Given the description of an element on the screen output the (x, y) to click on. 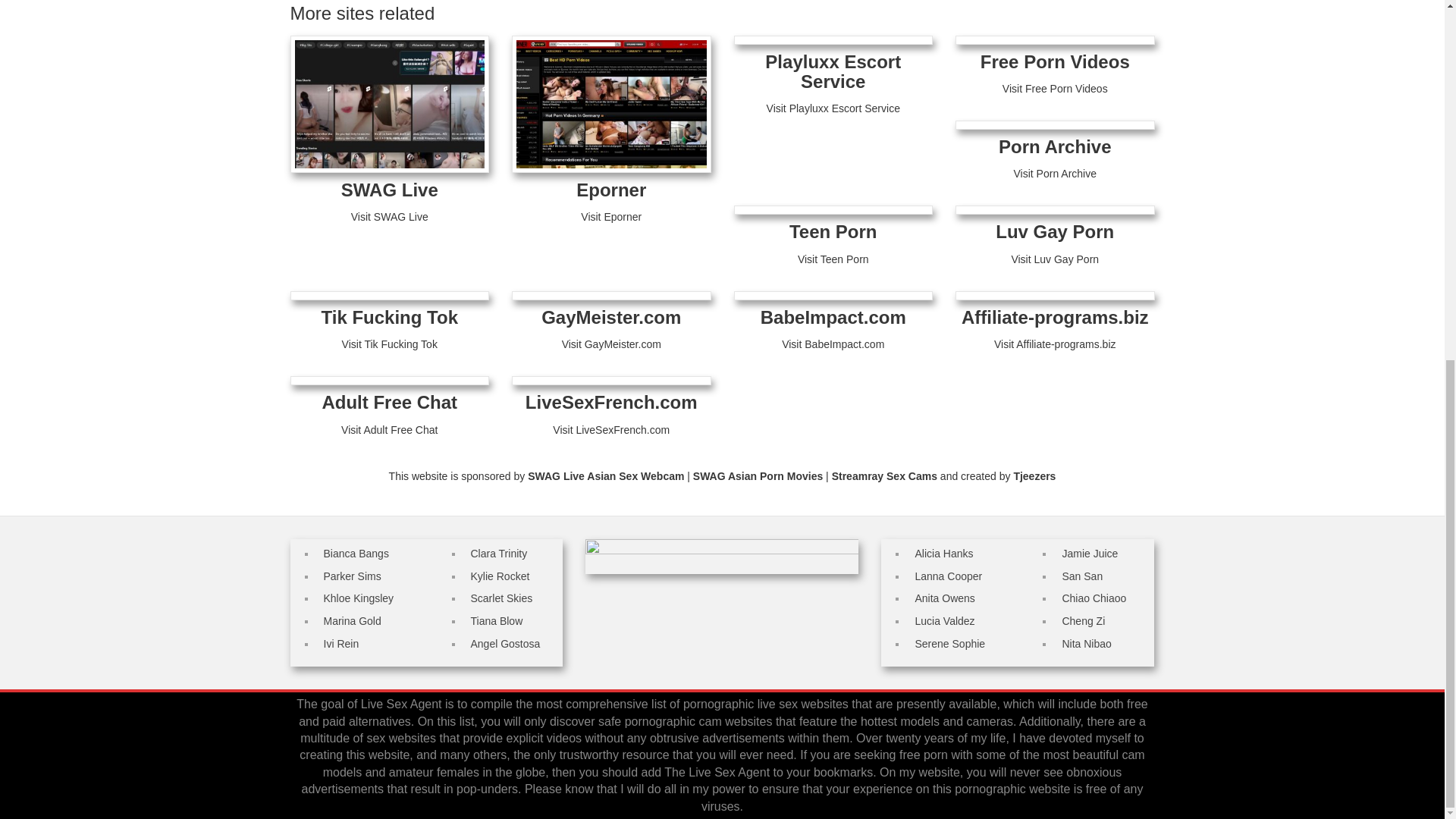
Visit Free Porn Videos (1055, 88)
Visit Playluxx Escort Service (833, 108)
Free Porn Videos (1054, 61)
Eporner (611, 189)
Visit Porn Archive (1054, 173)
Tik Fucking Tok (389, 317)
Visit Luv Gay Porn (1054, 259)
Visit Tik Fucking Tok (390, 344)
SWAG Live (389, 189)
Visit Teen Porn (833, 259)
Visit SWAG Live (389, 216)
Visit Eporner (611, 216)
Porn Archive (1055, 146)
Luv Gay Porn (1054, 231)
Playluxx Escort Service (833, 71)
